Given the description of an element on the screen output the (x, y) to click on. 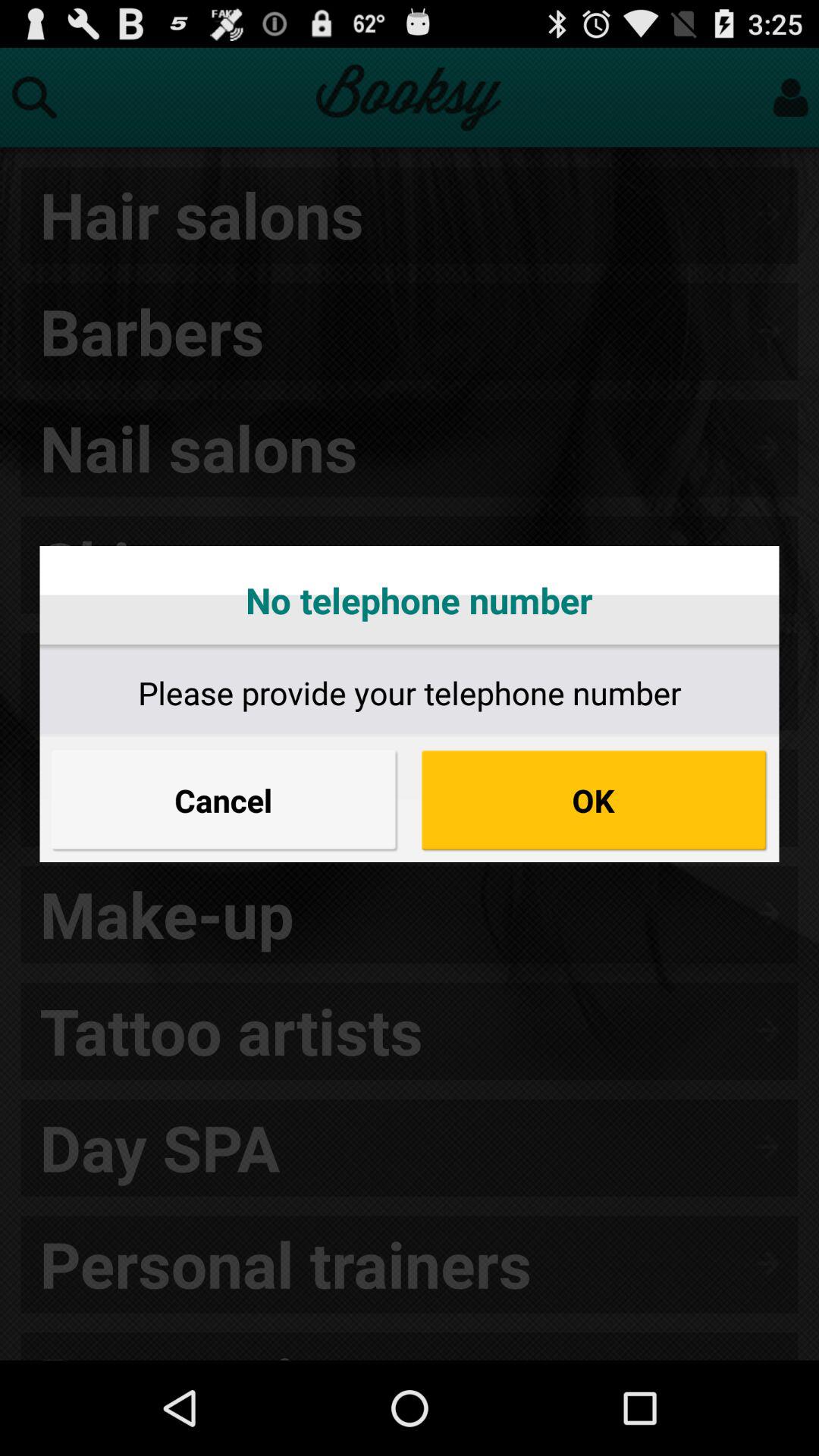
click icon on the left (224, 799)
